Given the description of an element on the screen output the (x, y) to click on. 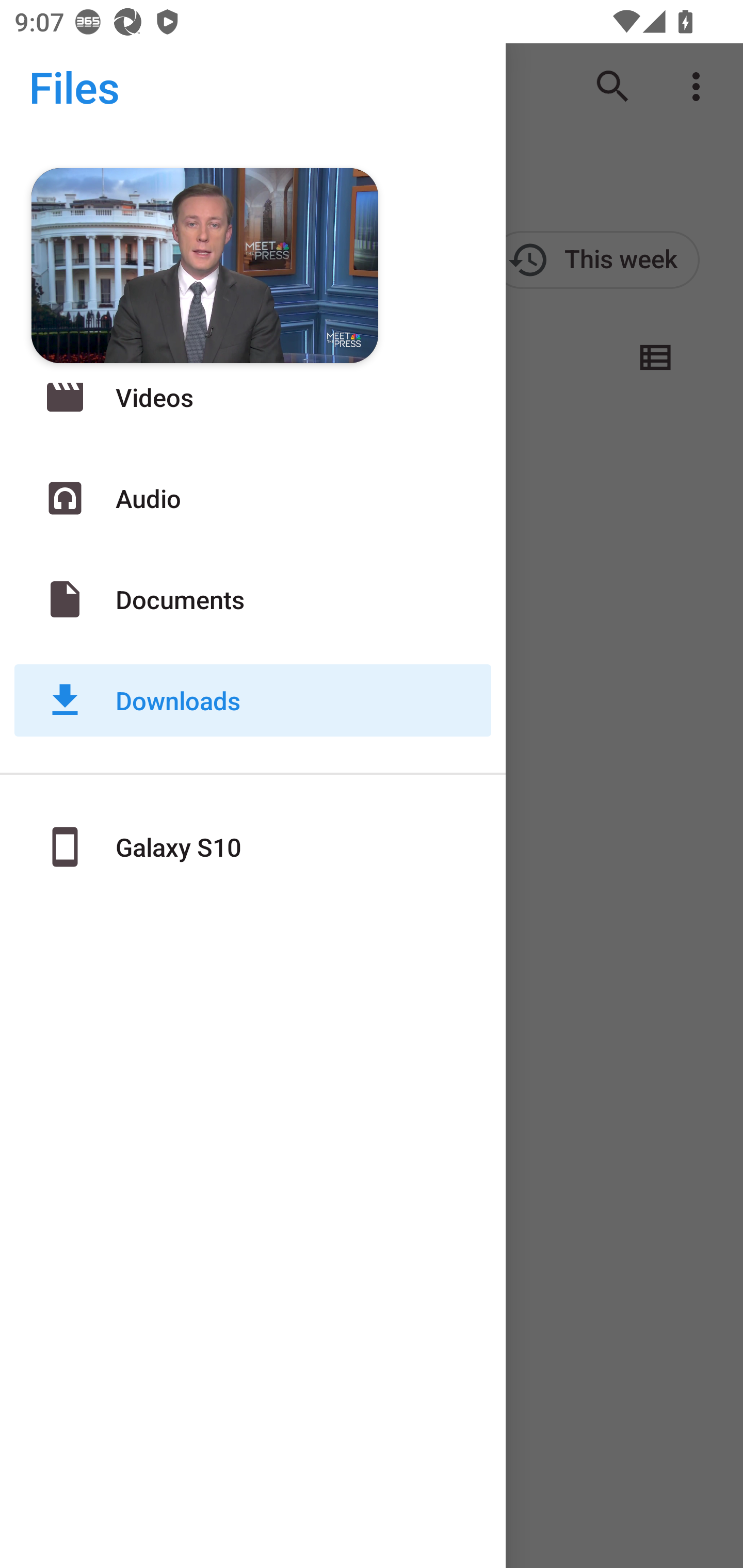
Show roots (50, 86)
Videos (252, 397)
Audio (252, 498)
Documents (252, 598)
Downloads (252, 700)
Galaxy S10 (252, 846)
